Given the description of an element on the screen output the (x, y) to click on. 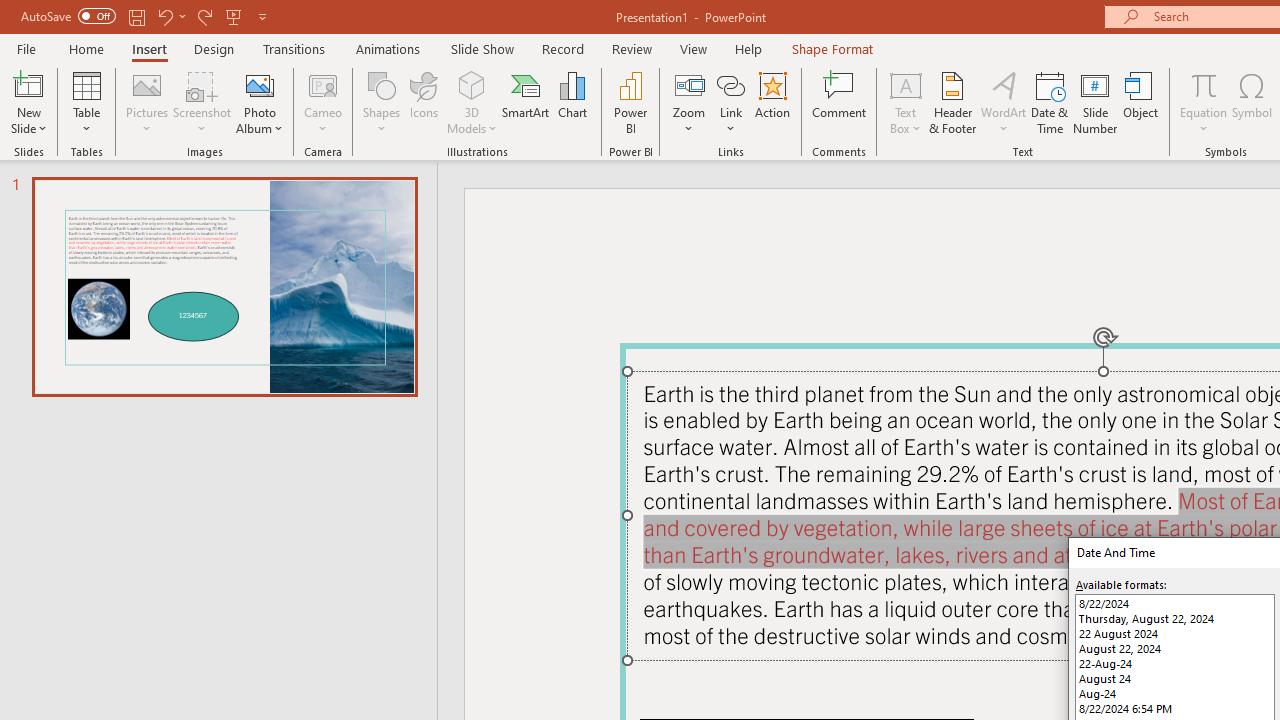
Pictures (147, 102)
Design (214, 48)
Link (731, 84)
22-Aug-24 (1174, 663)
Transitions (294, 48)
Equation (1203, 102)
Date & Time... (1050, 102)
Undo (164, 15)
Text Box (905, 102)
New Photo Album... (259, 84)
Slide Number (1095, 102)
Aug-24 (1174, 693)
22 August 2024 (1174, 632)
